Given the description of an element on the screen output the (x, y) to click on. 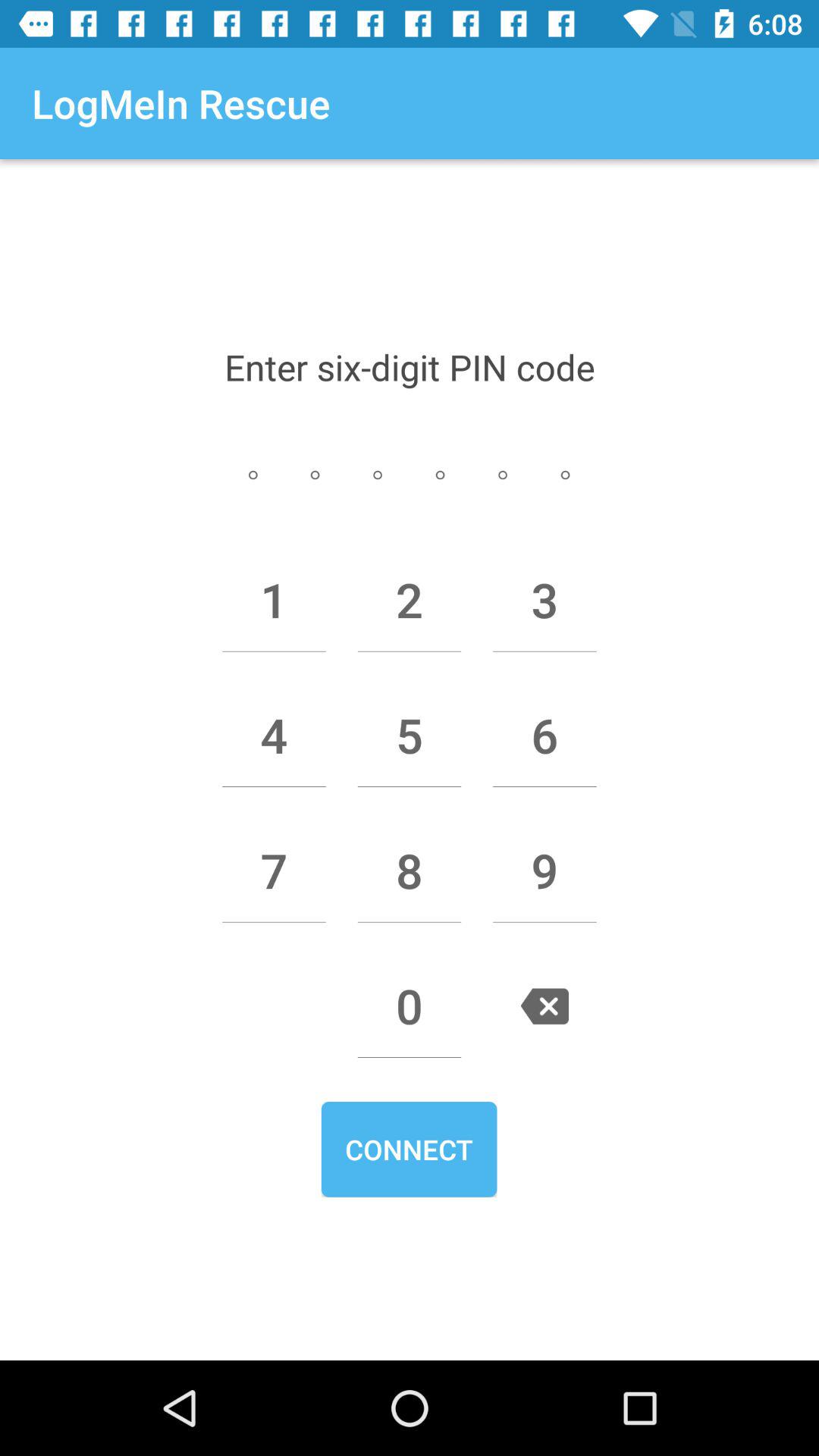
swipe until the 8 icon (409, 870)
